Given the description of an element on the screen output the (x, y) to click on. 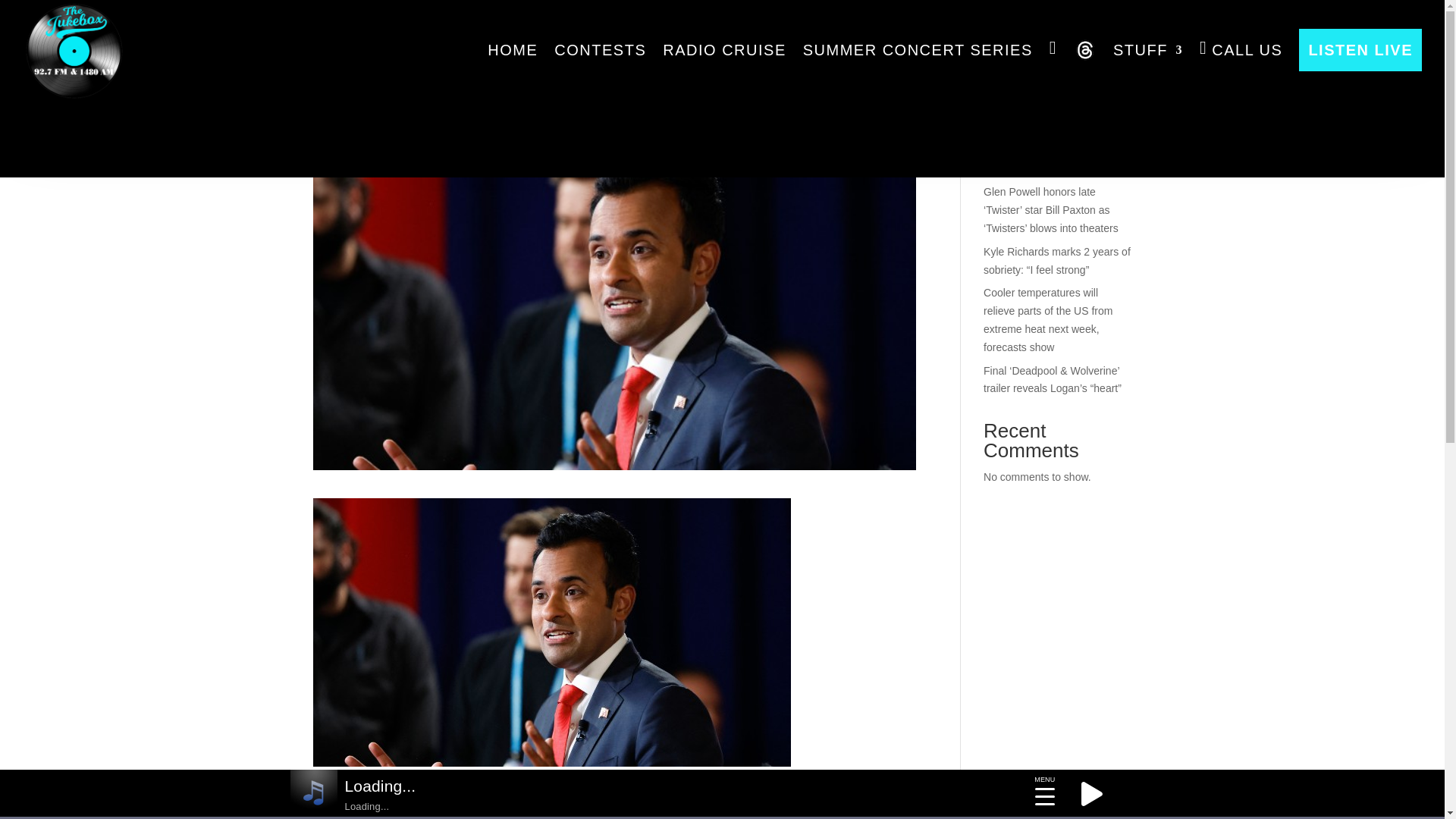
SUMMER CONCERT SERIES (917, 49)
admin (340, 105)
LISTEN LIVE (1360, 49)
Politics (451, 105)
RADIO CRUISE (724, 49)
Posts by admin (340, 105)
Search (1106, 59)
3rd party ad content (721, 101)
CONTESTS (600, 49)
